Given the description of an element on the screen output the (x, y) to click on. 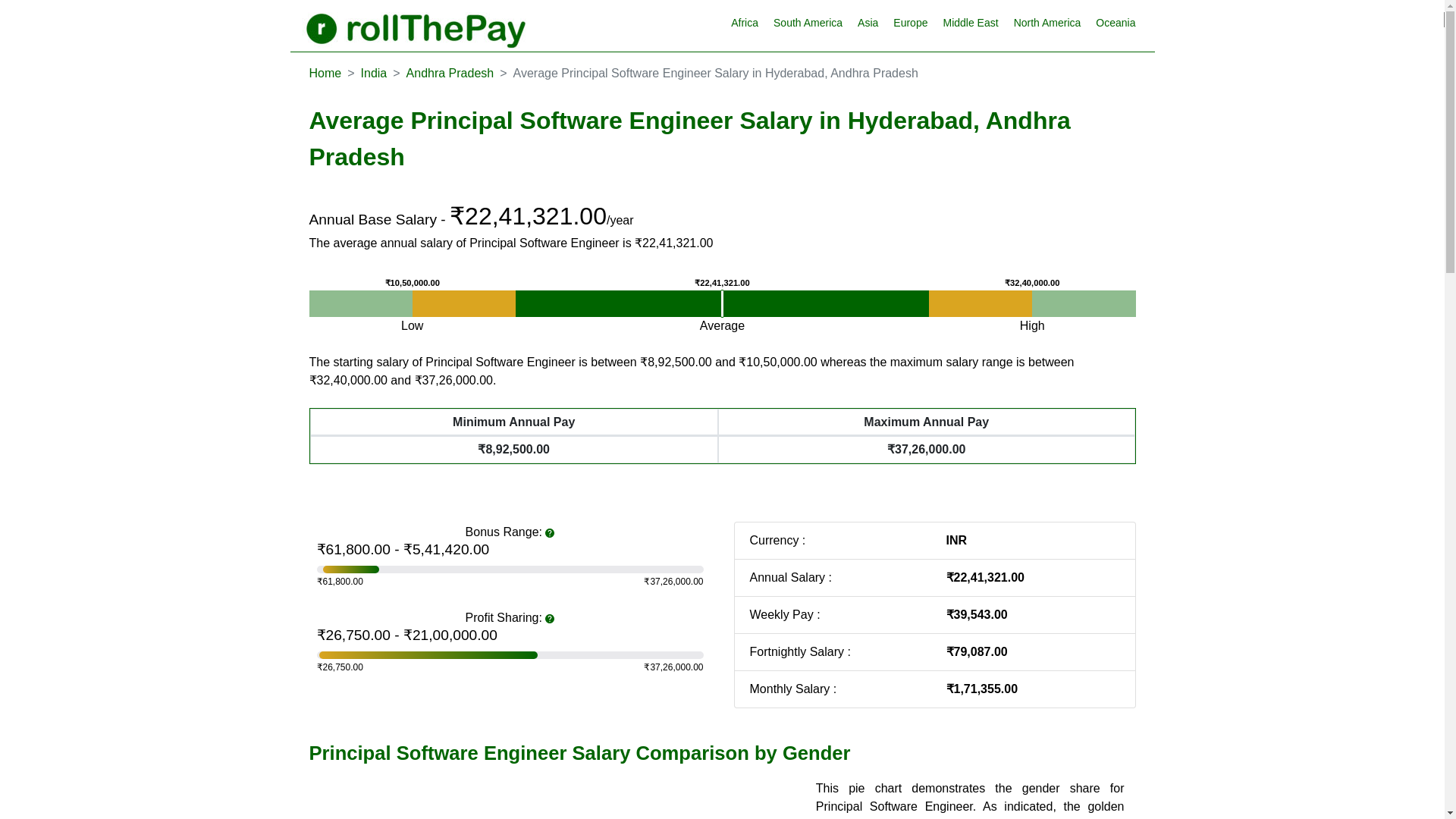
Africa (744, 22)
South America (807, 22)
Roll The Pay (415, 27)
